Given the description of an element on the screen output the (x, y) to click on. 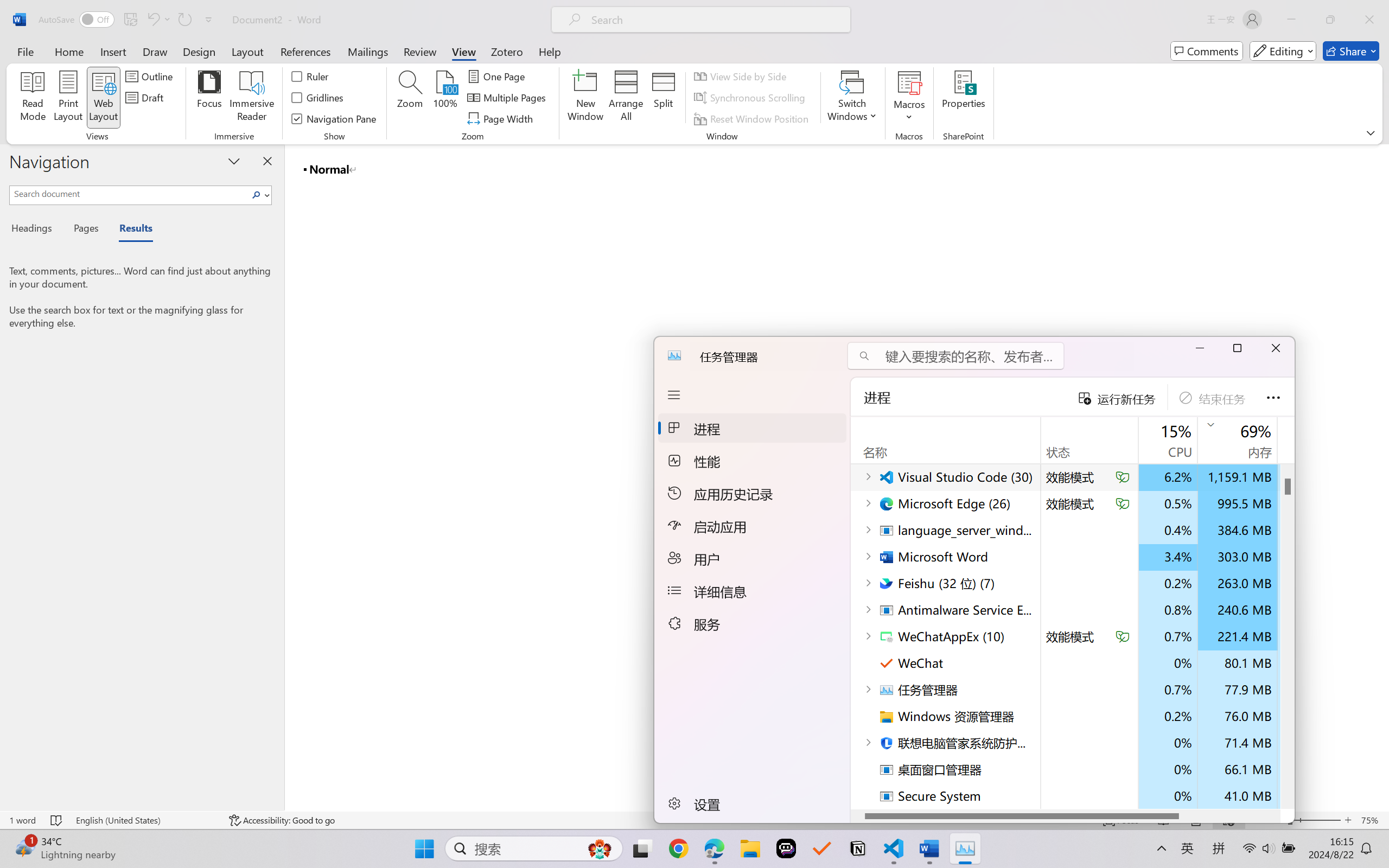
Search document (128, 193)
Ribbon Display Options (1370, 132)
Results (130, 229)
Draft (146, 97)
Notion (857, 848)
Language English (United States) (144, 819)
Focus (209, 97)
Macros (909, 97)
New Window (585, 97)
